Given the description of an element on the screen output the (x, y) to click on. 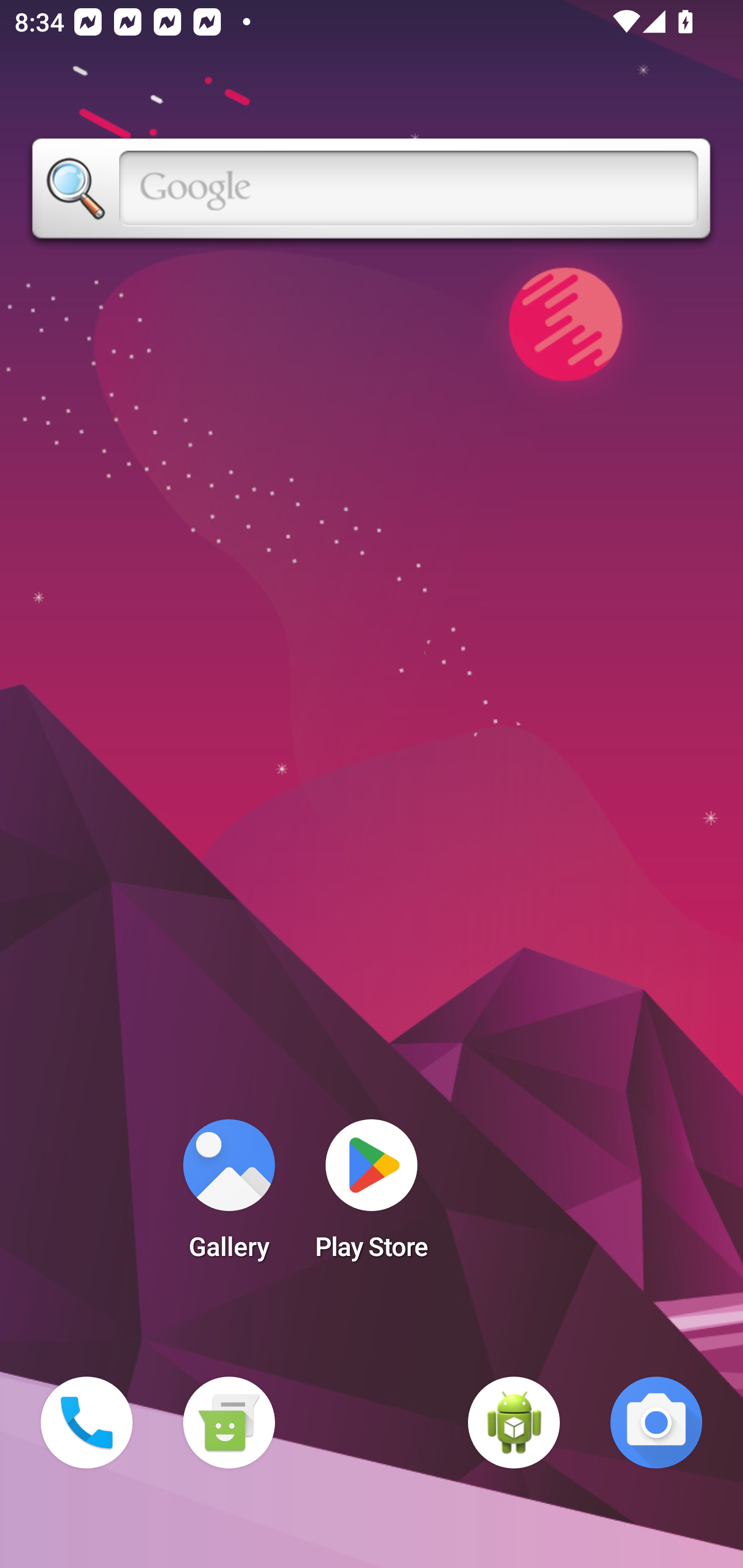
Gallery (228, 1195)
Play Store (371, 1195)
Phone (86, 1422)
Messaging (228, 1422)
WebView Browser Tester (513, 1422)
Camera (656, 1422)
